Given the description of an element on the screen output the (x, y) to click on. 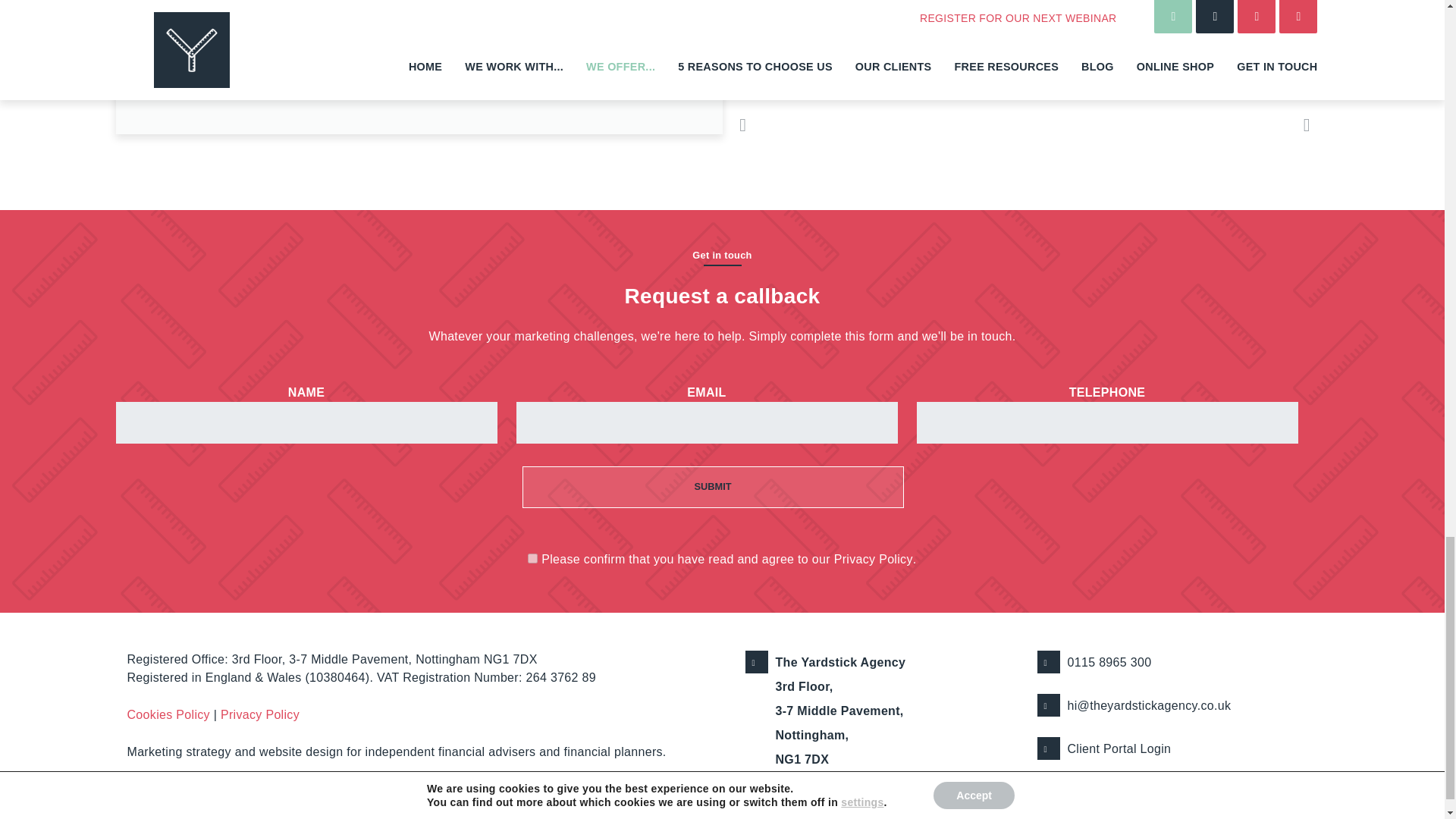
1 (532, 558)
Submit (711, 486)
